Given the description of an element on the screen output the (x, y) to click on. 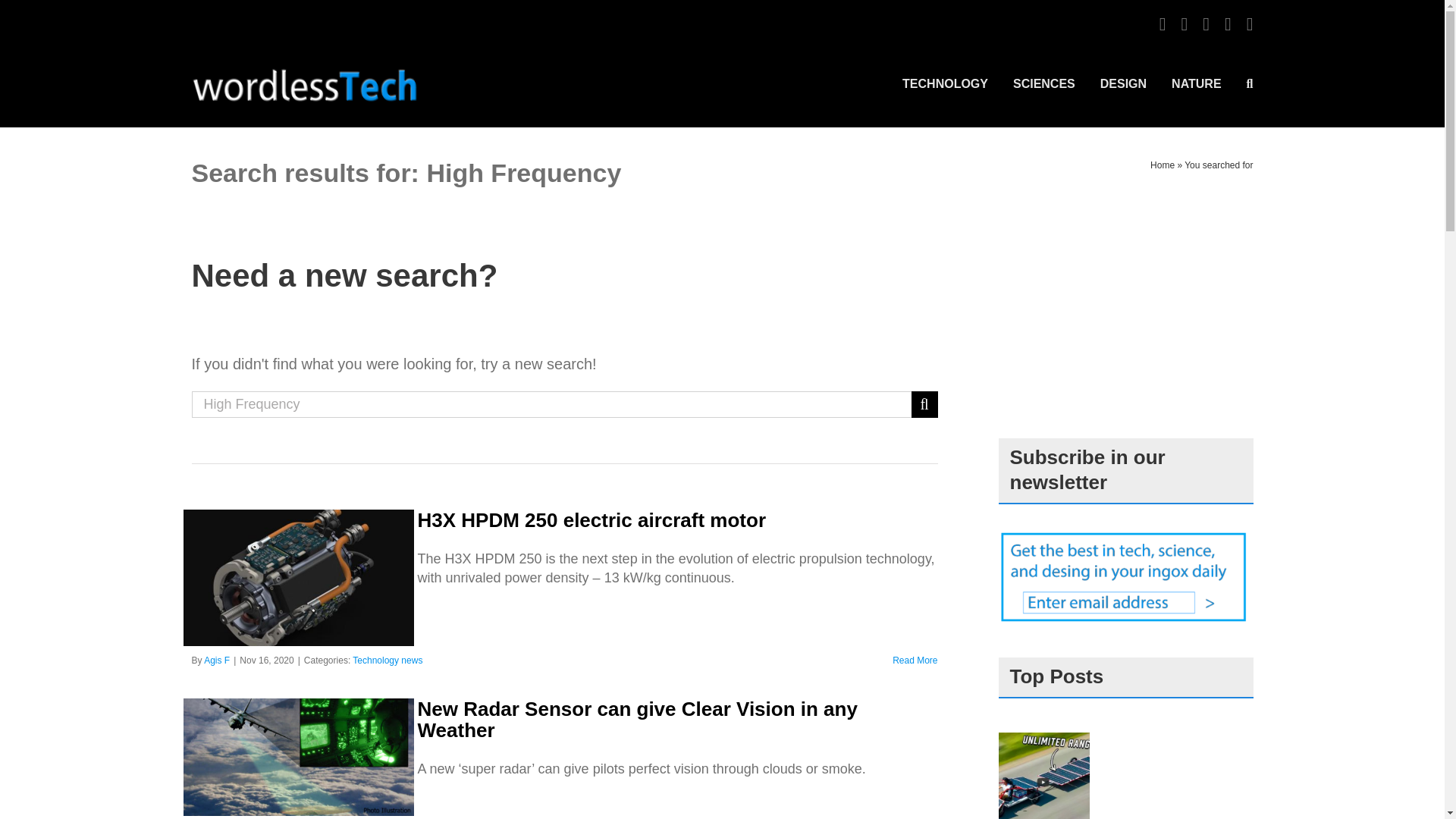
Posts by Agis F (216, 660)
NATURE (1196, 83)
New Radar Sensor can give Clear Vision in any Weather 2 (298, 756)
High Frequency  (550, 404)
High Frequency  (550, 404)
H3X HPDM 250 electric aircraft motor 1 (298, 577)
TECHNOLOGY (945, 83)
SCIENCES (1044, 83)
